Given the description of an element on the screen output the (x, y) to click on. 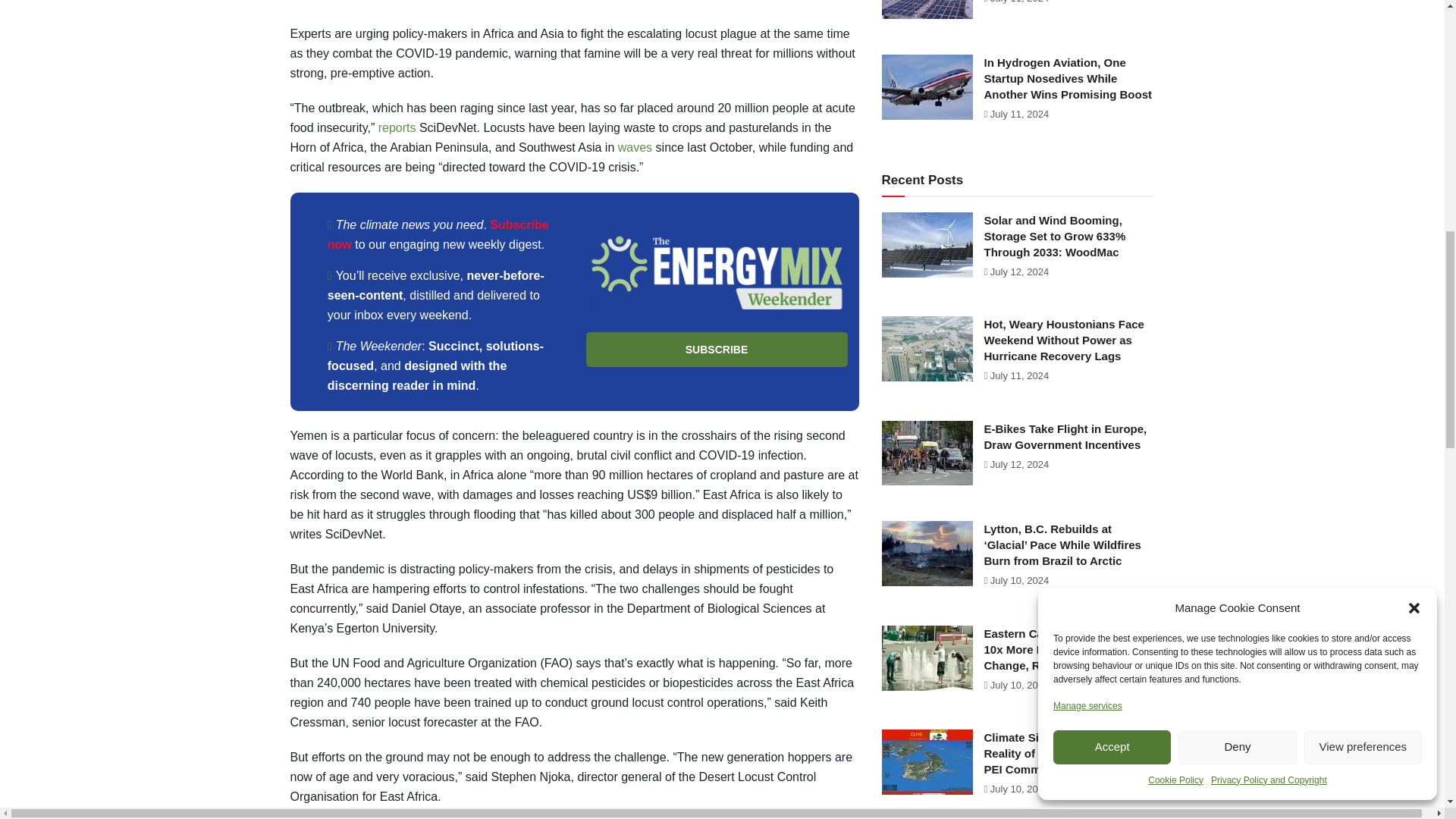
TEM-WeekenderLight (716, 272)
Subscribe (716, 349)
